Given the description of an element on the screen output the (x, y) to click on. 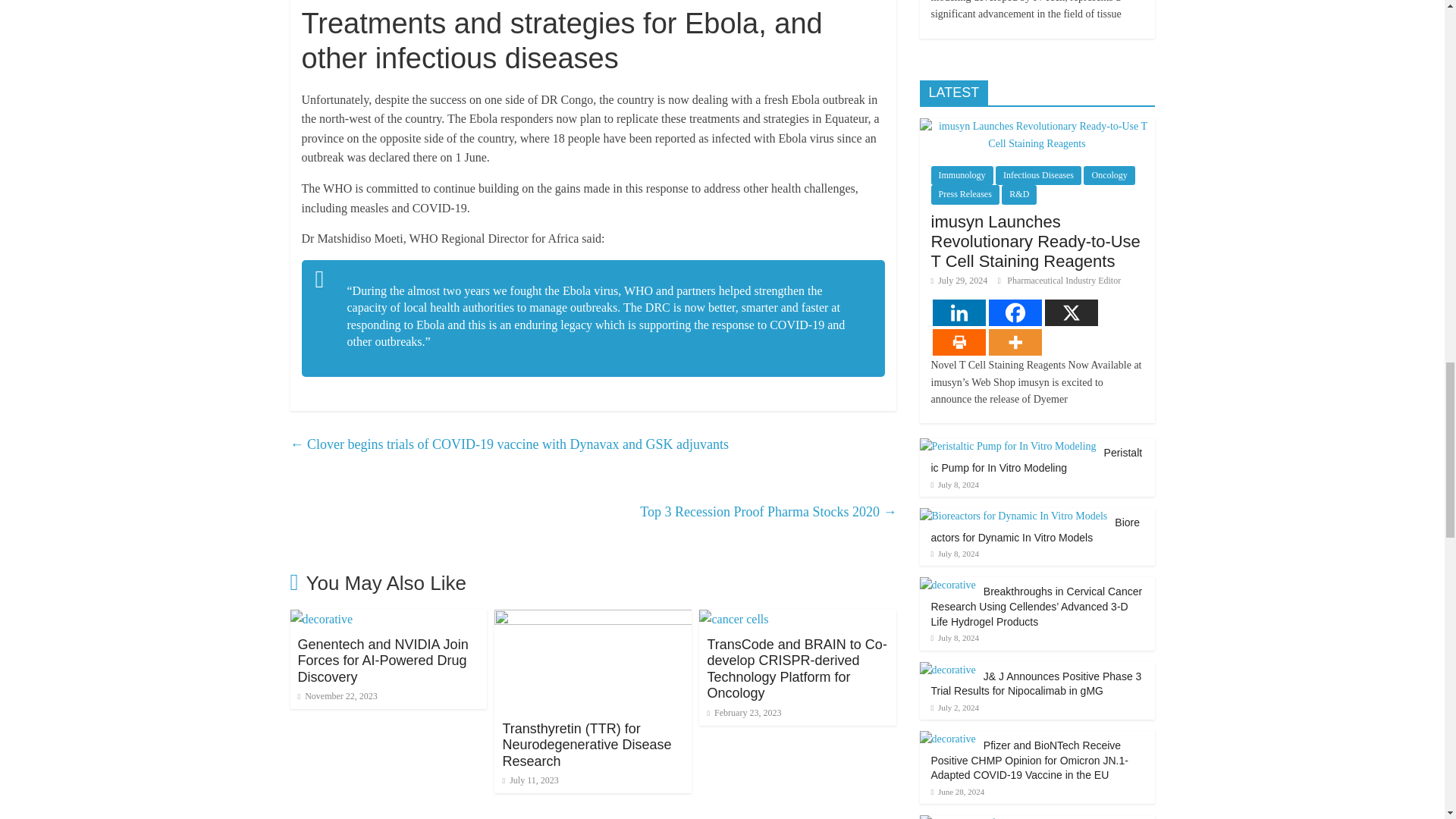
9:30 am (337, 696)
